Given the description of an element on the screen output the (x, y) to click on. 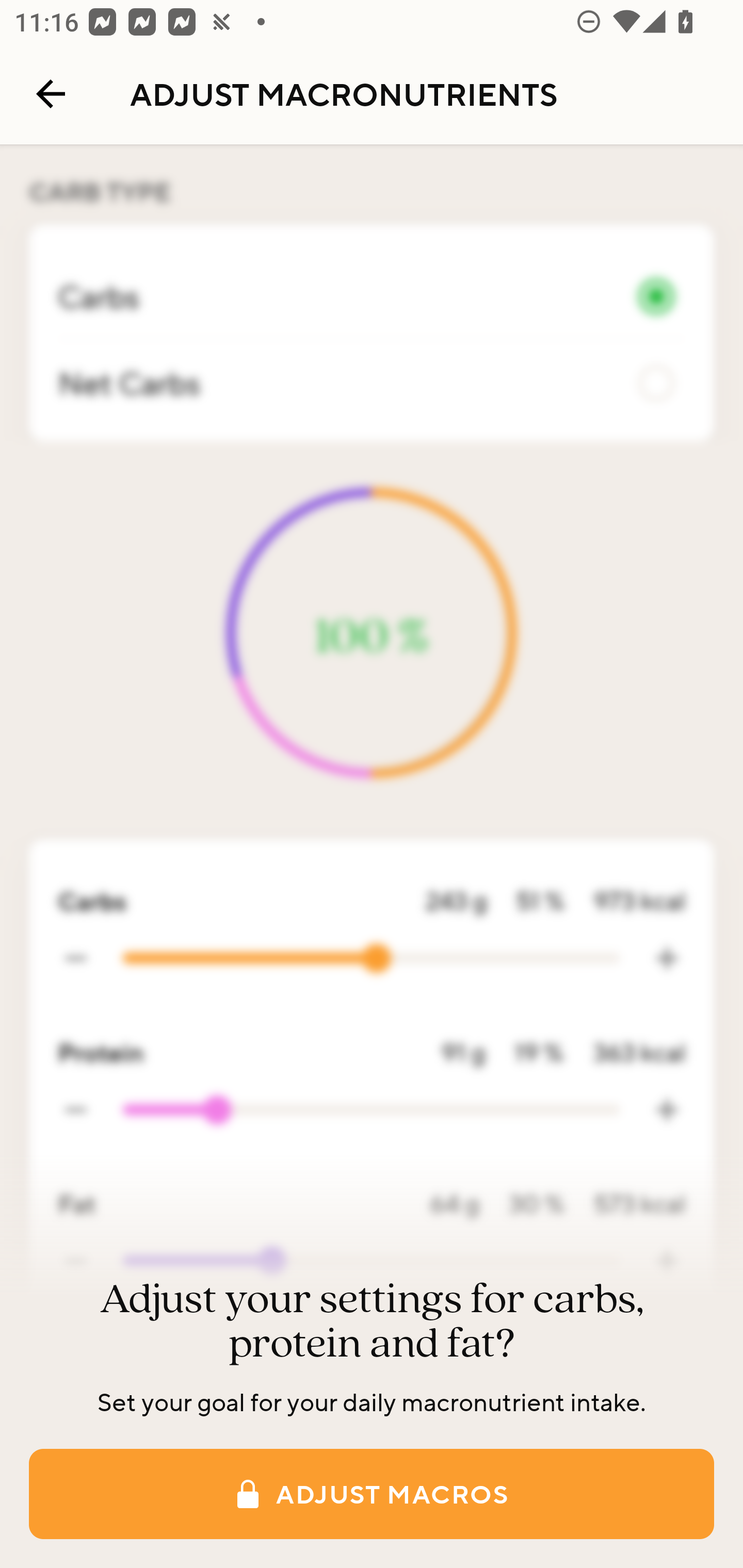
Navigate up (50, 93)
ADJUST MACROS (371, 1493)
